Given the description of an element on the screen output the (x, y) to click on. 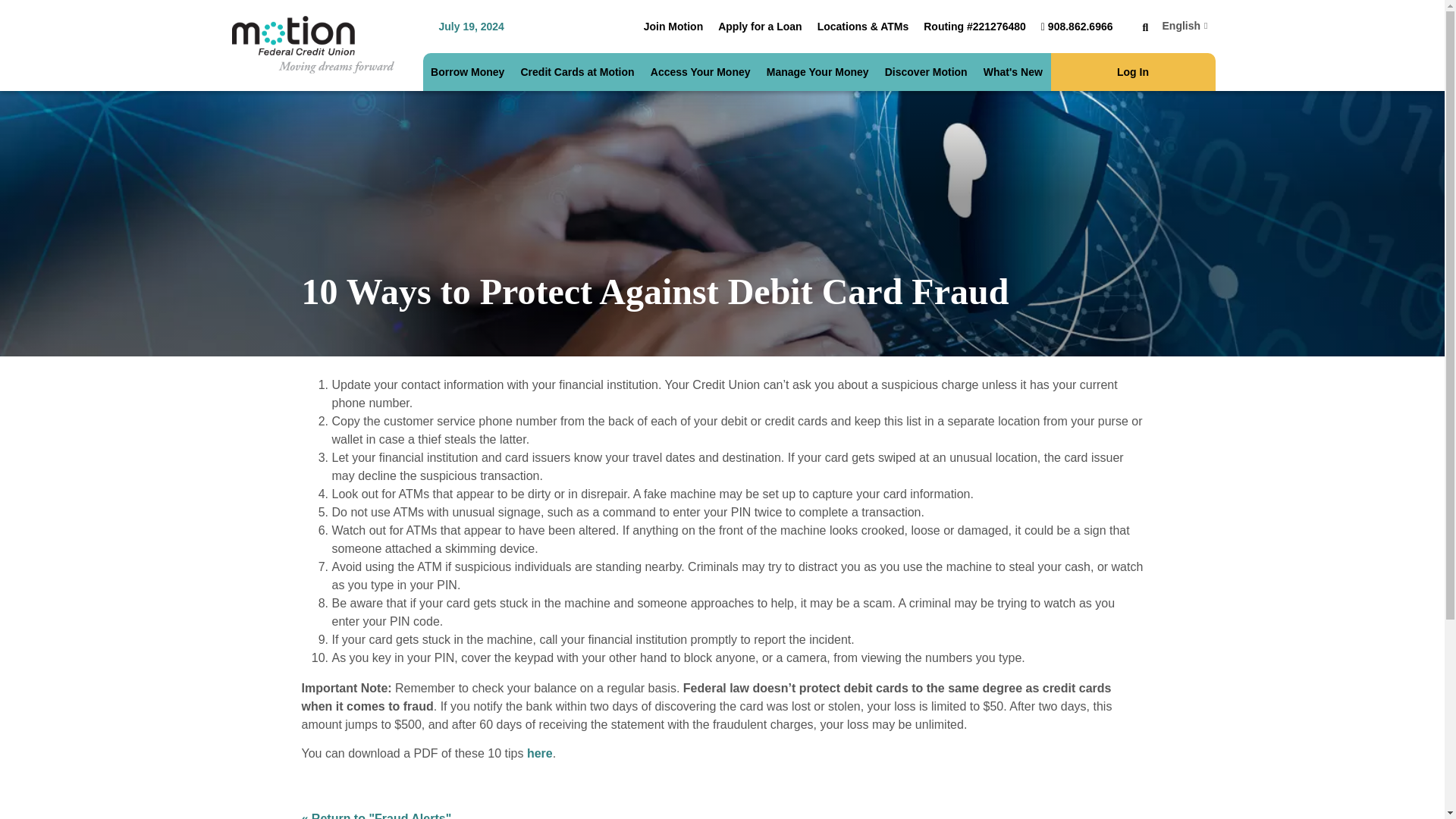
Apply for a Loan (759, 26)
Join Motion (673, 26)
Credit Cards at Motion (577, 71)
908.862.6966 (1077, 26)
Access Your Money (700, 71)
Borrow Money (467, 71)
